Given the description of an element on the screen output the (x, y) to click on. 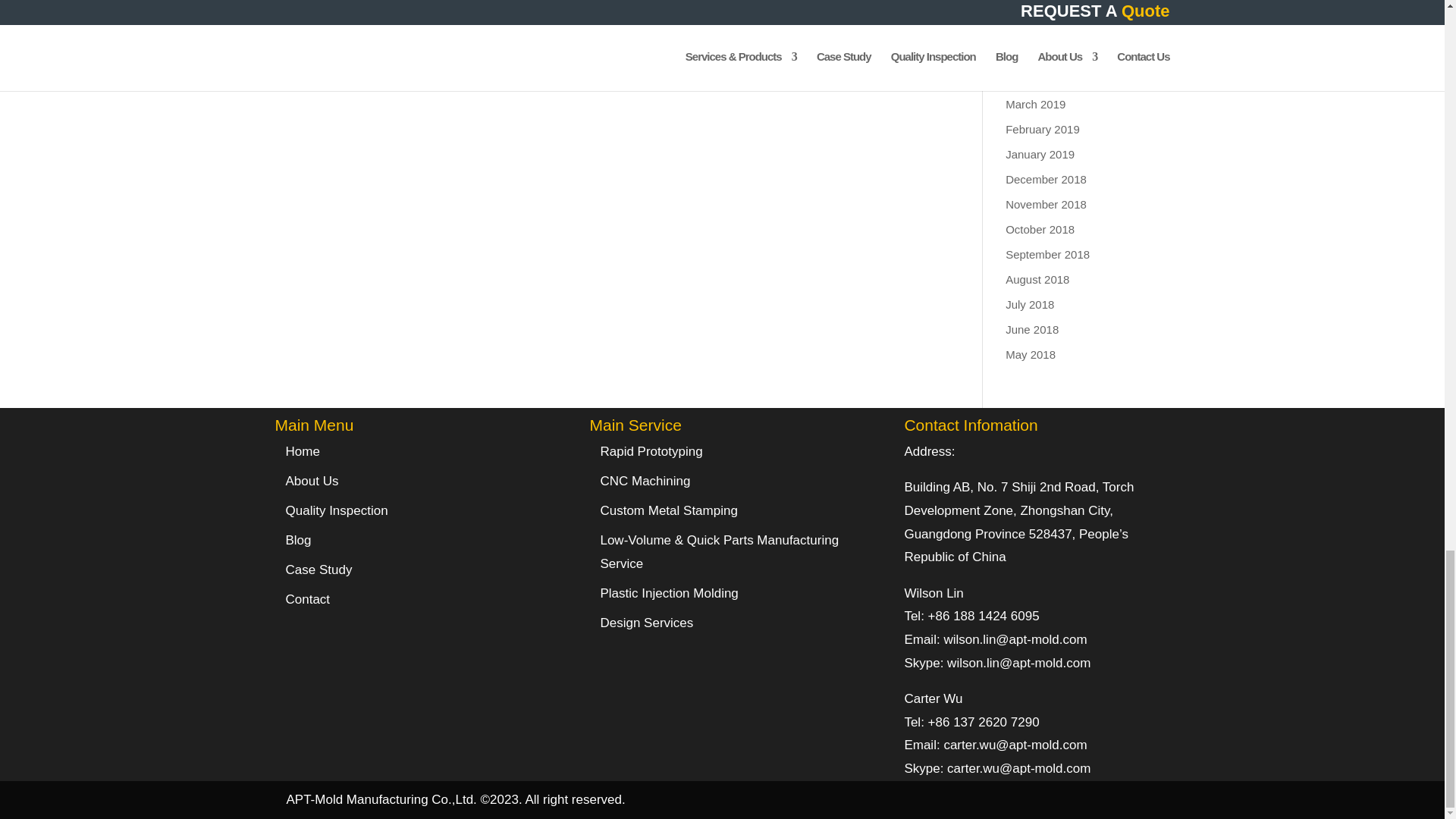
4 Causes for Broken Cutter on CNC Machines (336, 15)
What Are the Benefits of CNC Machines? (580, 15)
